Given the description of an element on the screen output the (x, y) to click on. 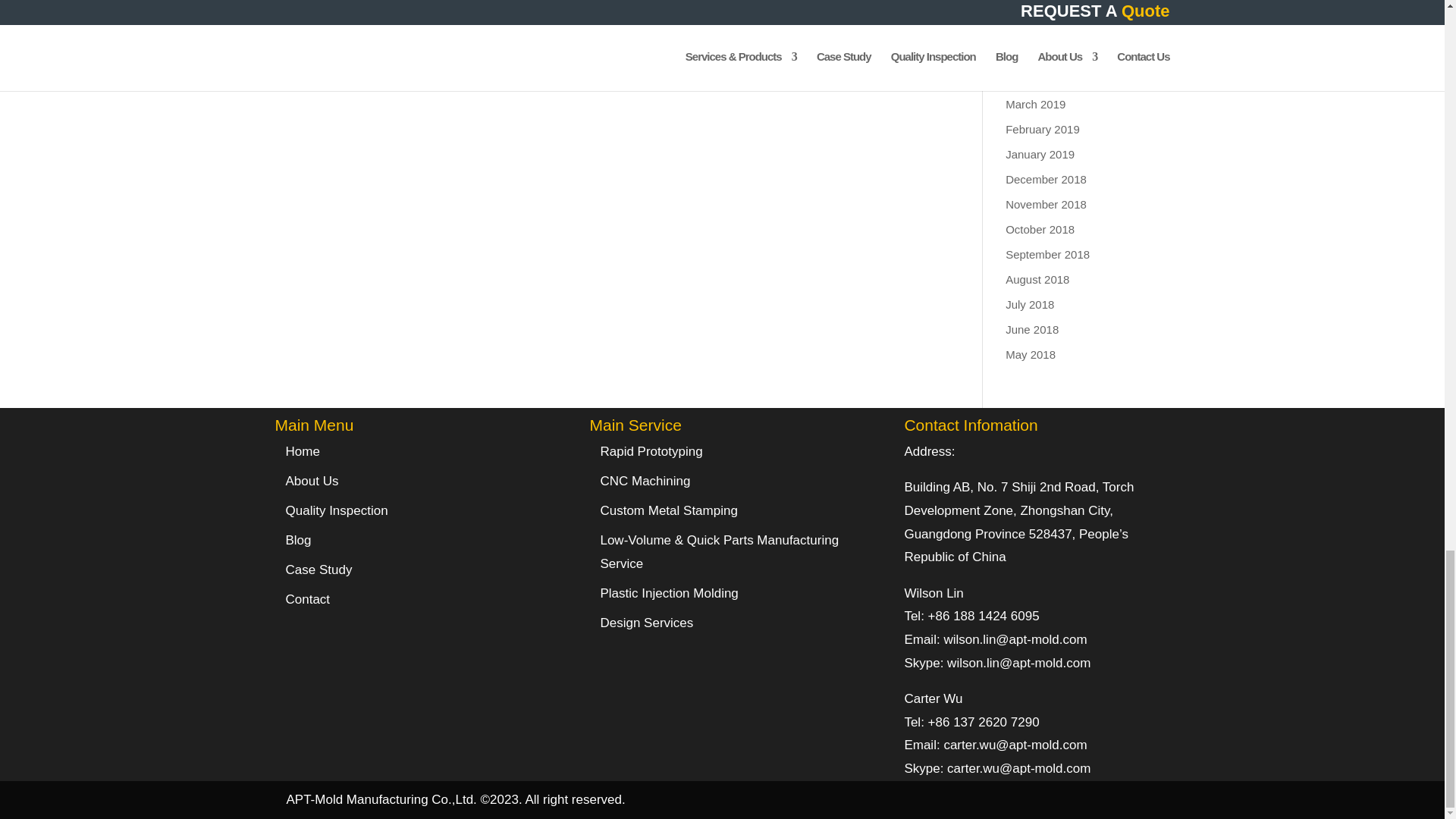
4 Causes for Broken Cutter on CNC Machines (336, 15)
What Are the Benefits of CNC Machines? (580, 15)
